Given the description of an element on the screen output the (x, y) to click on. 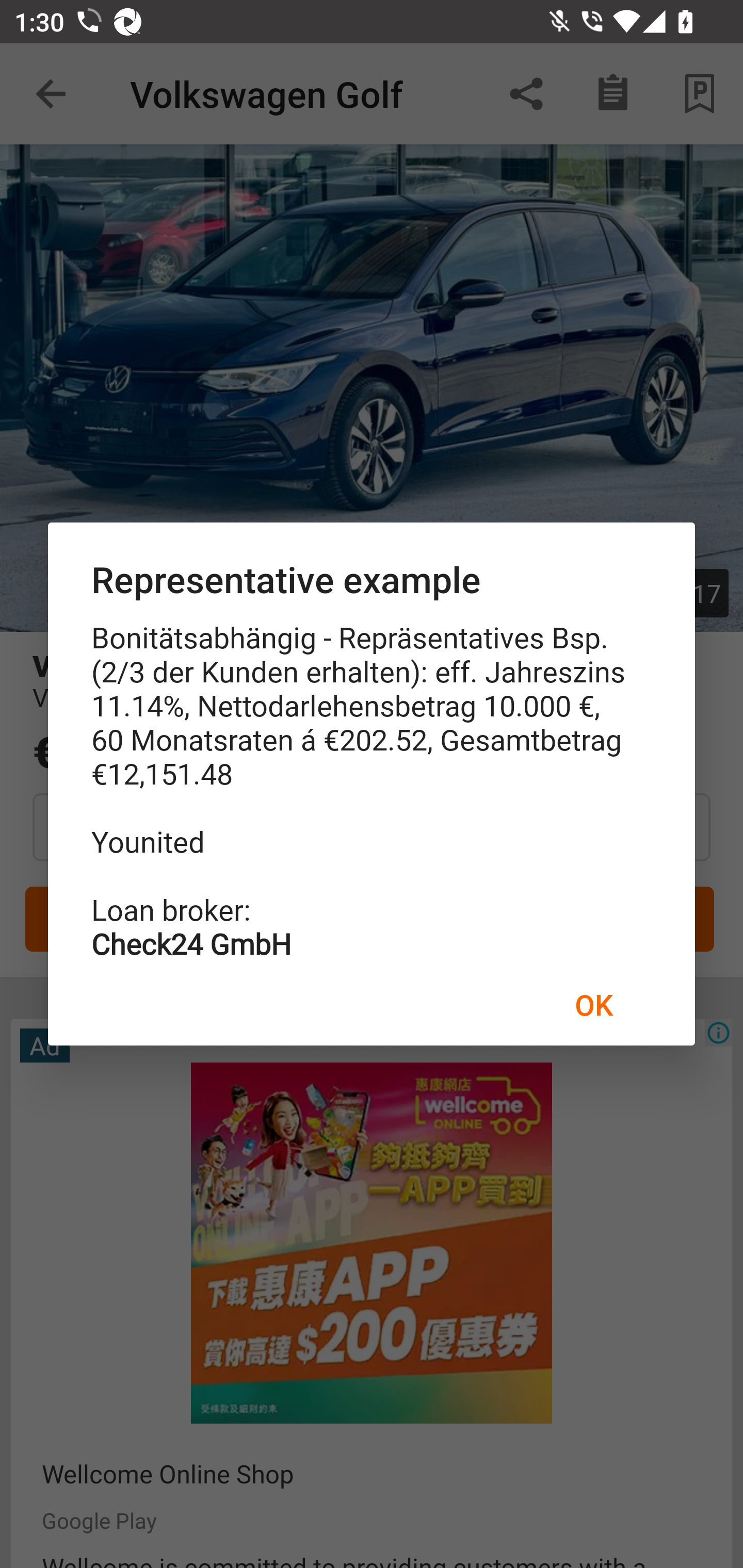
OK (593, 1004)
